Given the description of an element on the screen output the (x, y) to click on. 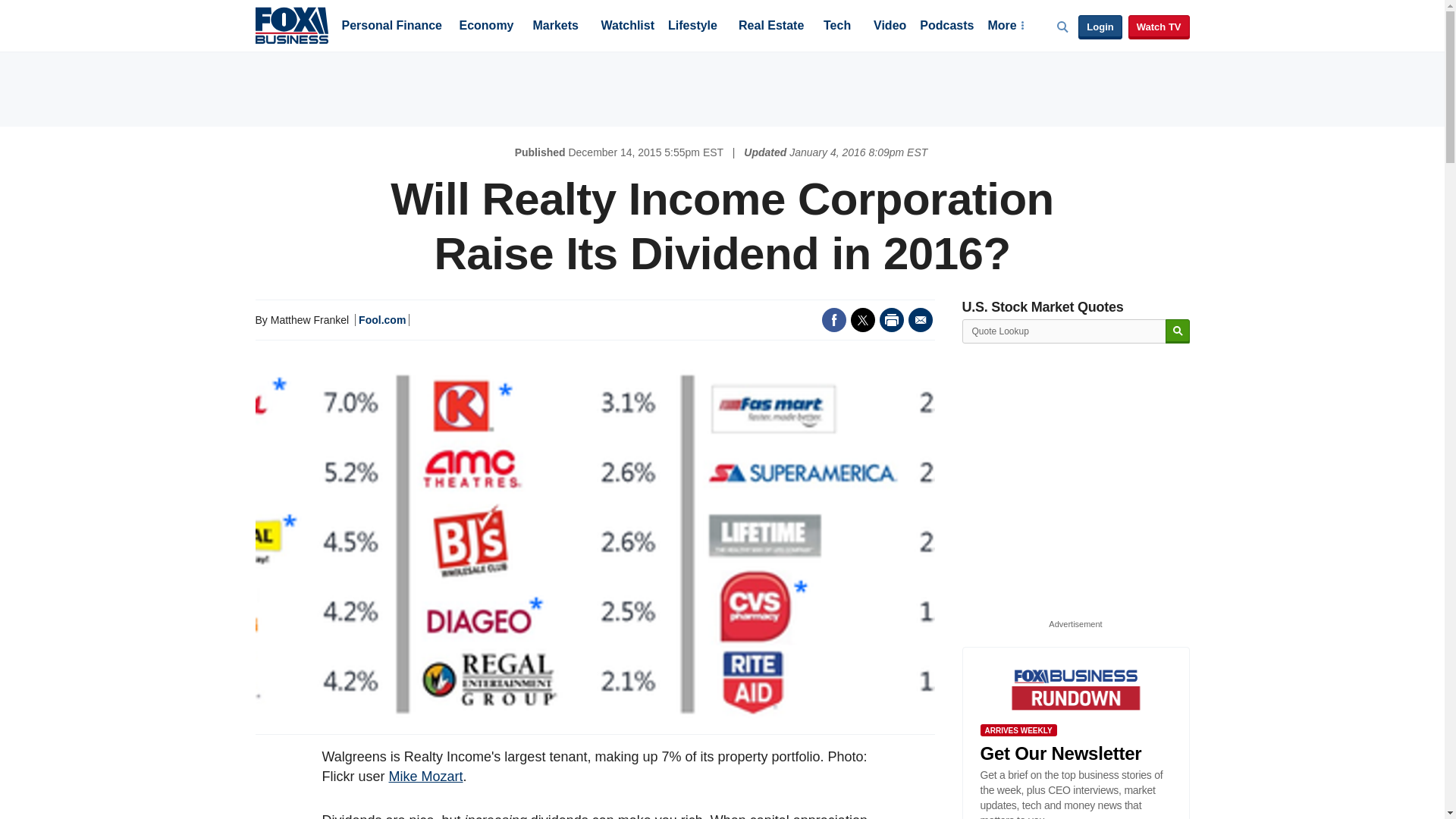
Tech (837, 27)
Search (1176, 331)
Markets (555, 27)
Economy (486, 27)
Watchlist (626, 27)
Personal Finance (391, 27)
More (1005, 27)
Login (1099, 27)
Fox Business (290, 24)
Watch TV (1158, 27)
